Given the description of an element on the screen output the (x, y) to click on. 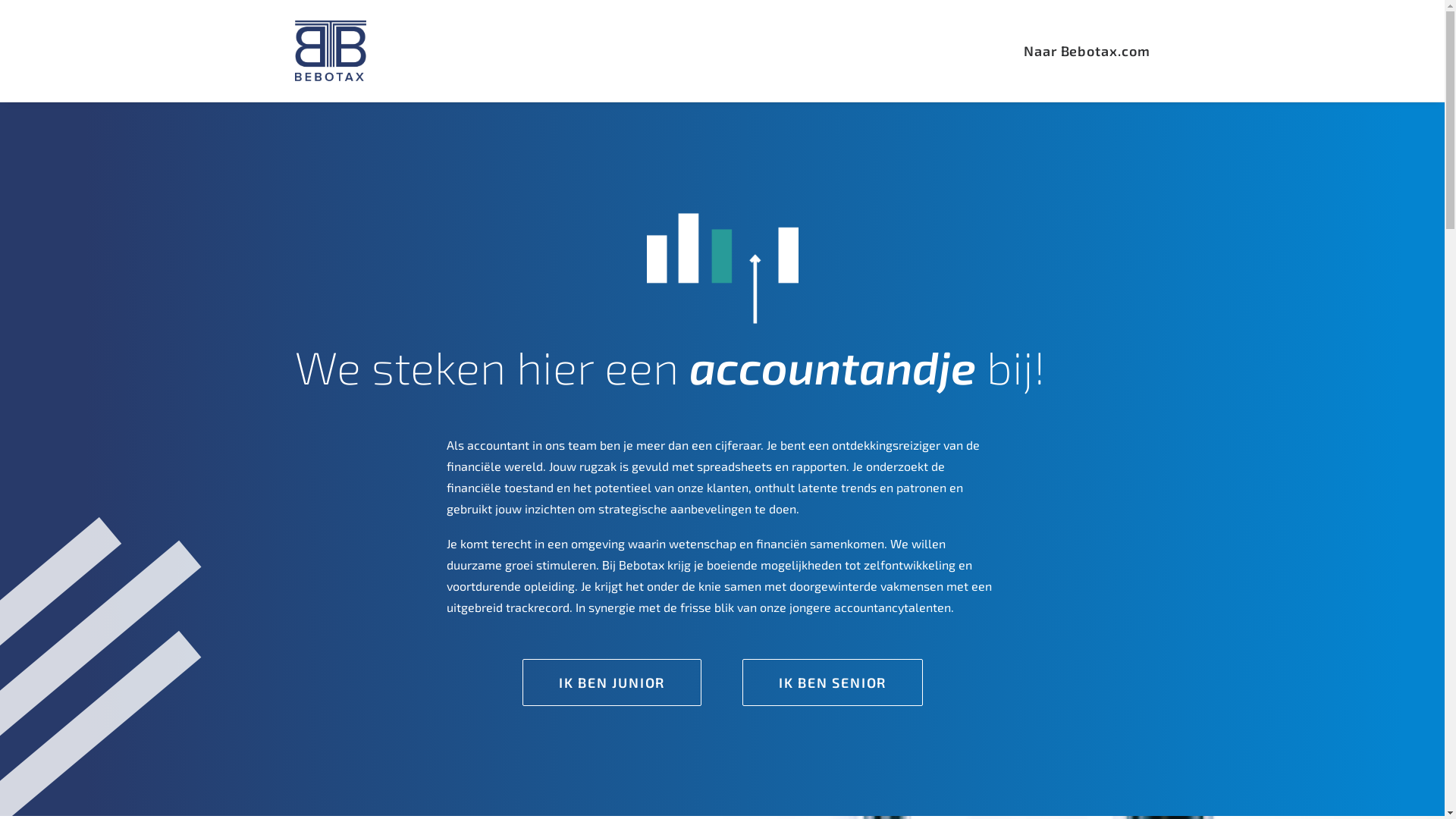
IK BEN SENIOR Element type: text (832, 682)
IK BEN JUNIOR Element type: text (611, 682)
Naar Bebotax.com Element type: text (1086, 50)
